Given the description of an element on the screen output the (x, y) to click on. 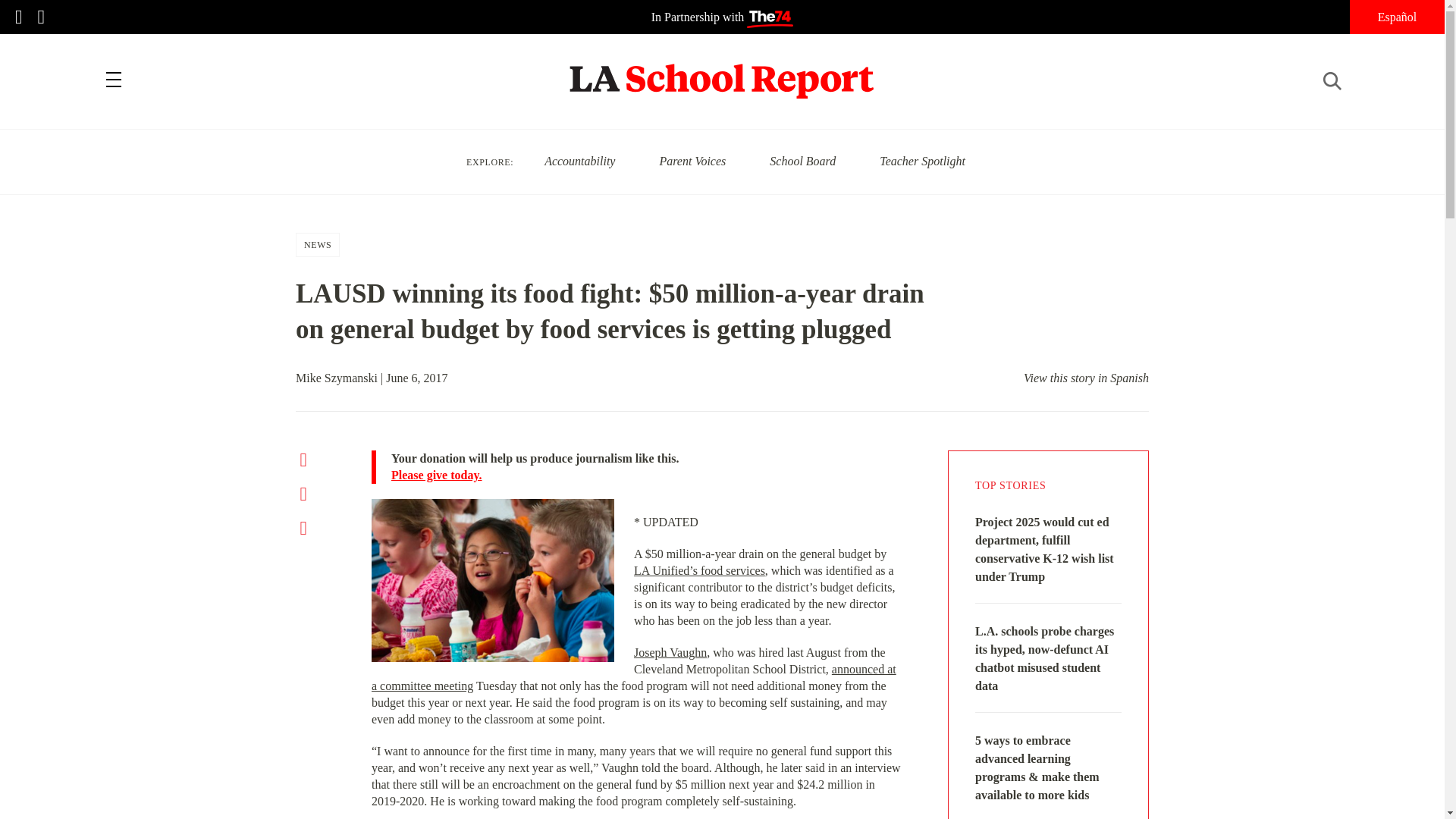
In Partnership with 74 (721, 16)
Accountability (579, 160)
NEWS (317, 244)
LA School Report (721, 71)
Teacher Spotlight (922, 160)
Parent Voices (692, 160)
Please give today. (646, 475)
Joseph Vaughn (669, 652)
School Board (802, 160)
View this story in Spanish (1085, 377)
